Given the description of an element on the screen output the (x, y) to click on. 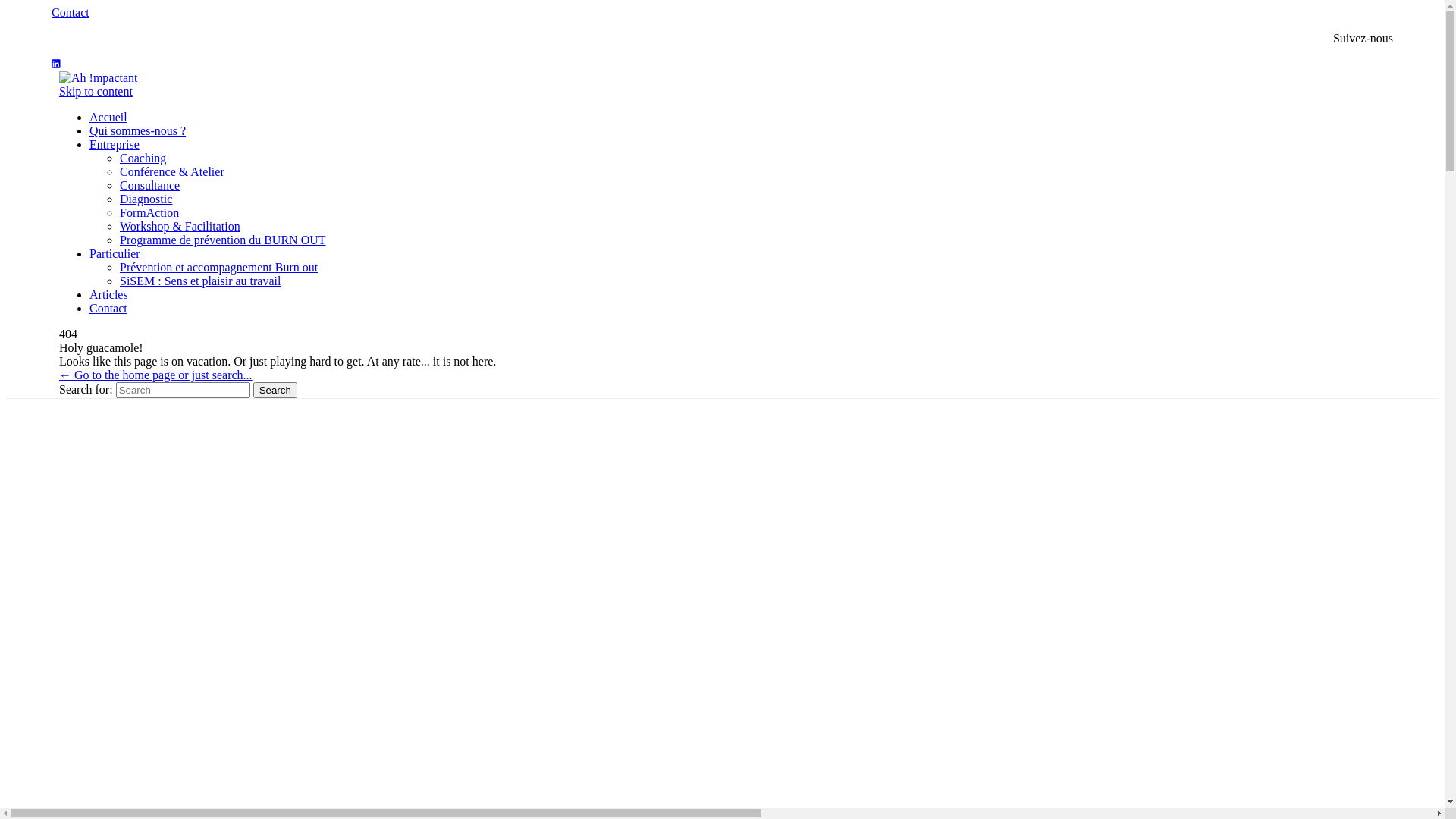
Accueil Element type: text (108, 116)
Consultance Element type: text (149, 184)
SiSEM : Sens et plaisir au travail Element type: text (199, 280)
Qui sommes-nous ? Element type: text (137, 130)
Articles Element type: text (108, 294)
Diagnostic Element type: text (145, 198)
FormAction Element type: text (148, 212)
Contact Element type: text (70, 12)
Skip to content Element type: text (95, 90)
Contact Element type: text (108, 307)
Workshop & Facilitation Element type: text (179, 225)
Particulier Element type: text (114, 253)
Coaching Element type: text (142, 157)
Ah !mpactant Element type: hover (98, 77)
Search Element type: text (275, 390)
Entreprise Element type: text (114, 144)
